Given the description of an element on the screen output the (x, y) to click on. 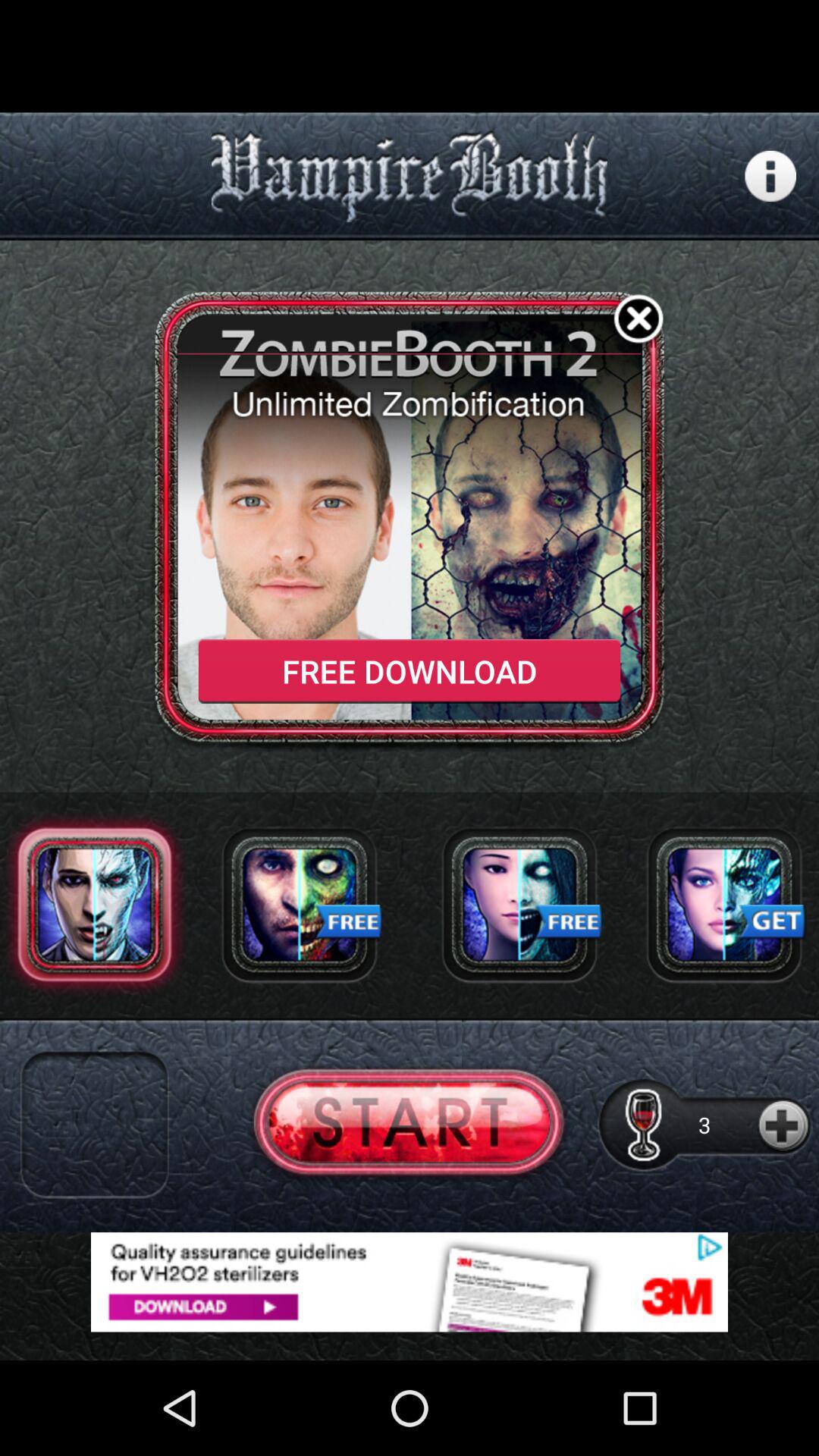
icon button (770, 175)
